Given the description of an element on the screen output the (x, y) to click on. 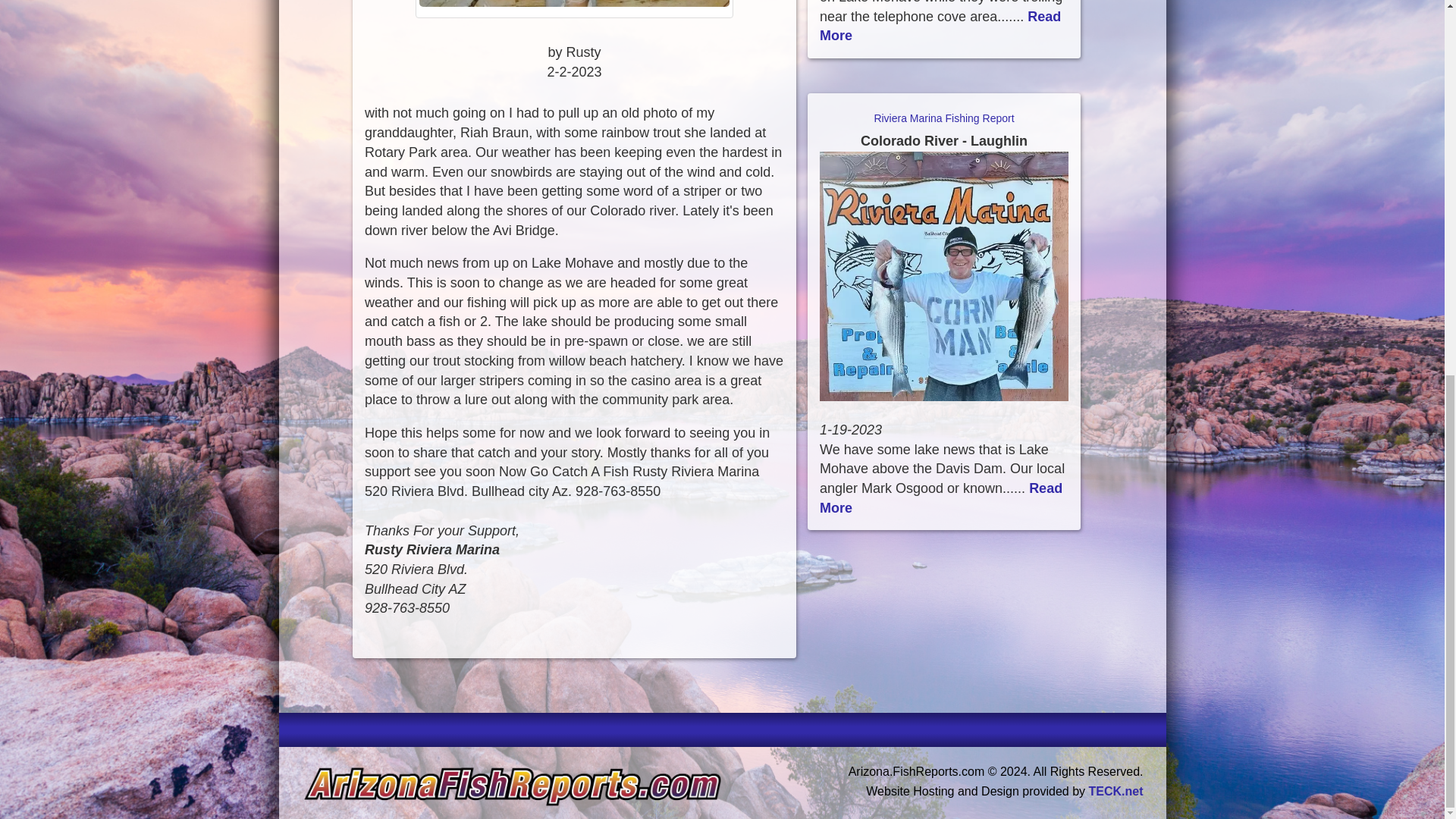
Riviera Marina Fishing Report (943, 130)
Read More (940, 26)
Read More (940, 497)
TECK.net (1115, 790)
